Given the description of an element on the screen output the (x, y) to click on. 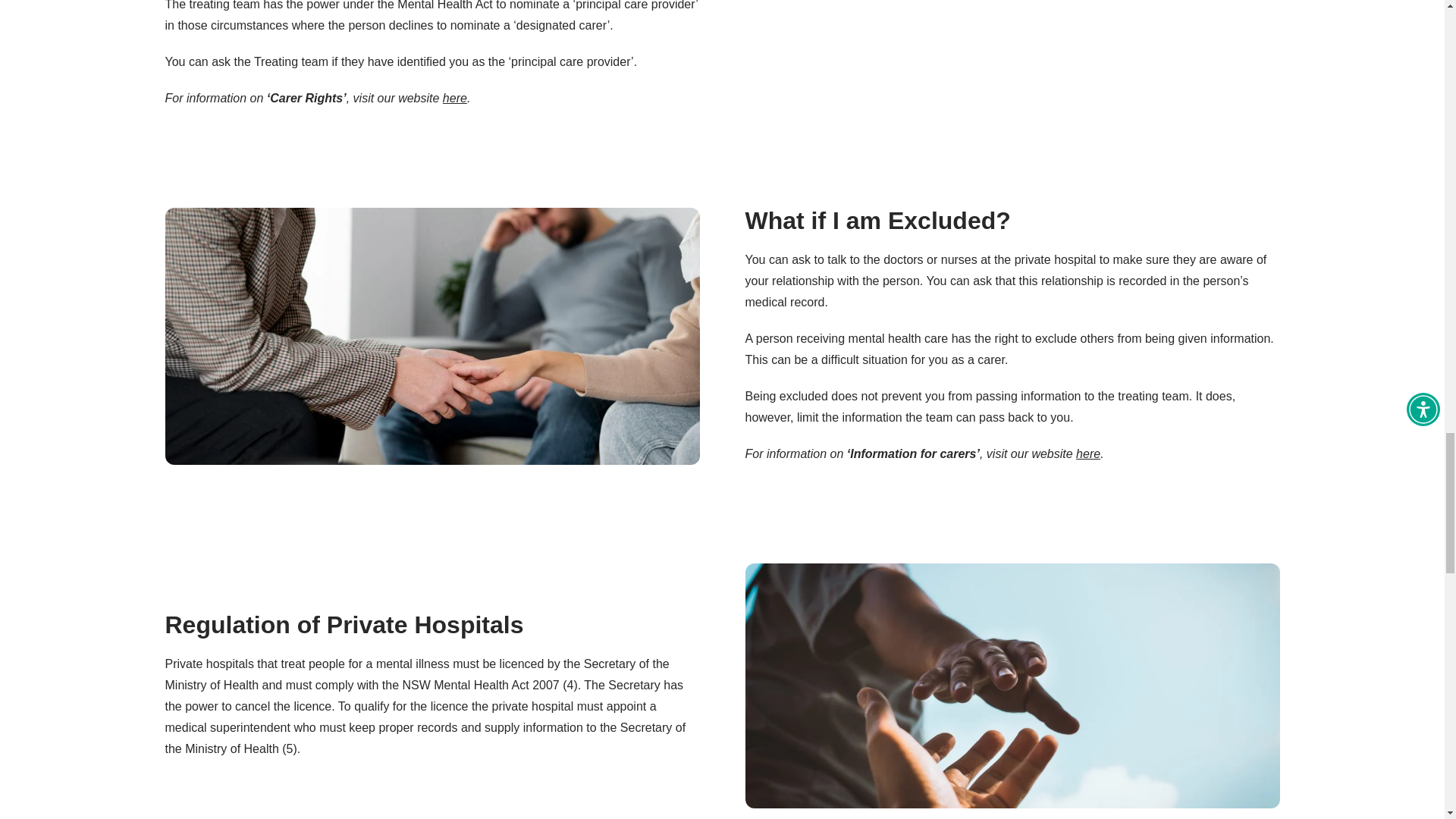
here (1087, 453)
here (454, 97)
